Given the description of an element on the screen output the (x, y) to click on. 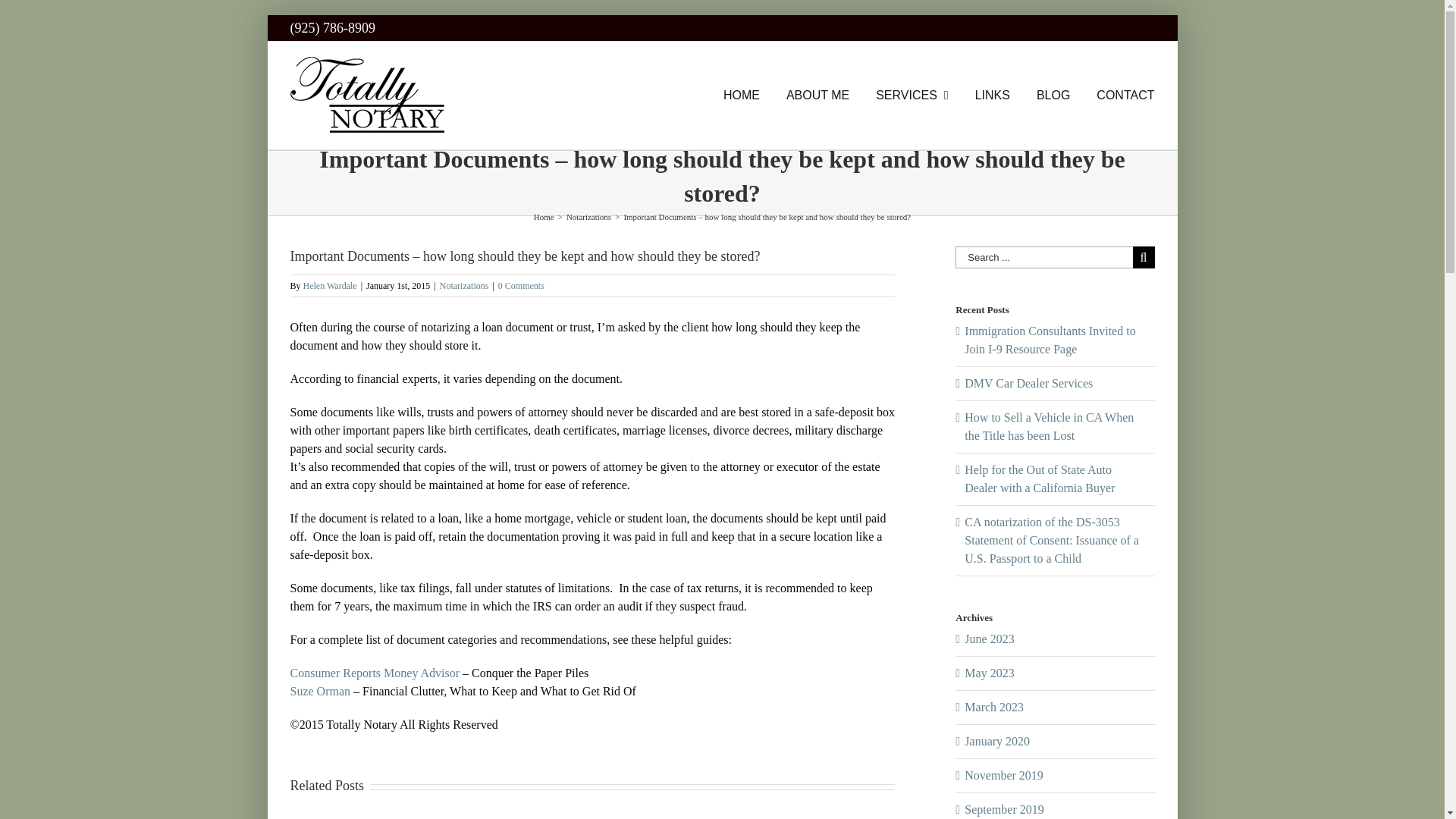
Suze Orman (319, 690)
Financial Clutter, What to Keep and What To Get Rid Of (319, 690)
0 Comments (520, 285)
Posts by Helen Wardale (329, 285)
Conquer the paper piles (374, 672)
Home (544, 216)
Helen Wardale (329, 285)
Notarizations (588, 216)
Consumer Reports Money Advisor (374, 672)
Notarizations (464, 285)
